Given the description of an element on the screen output the (x, y) to click on. 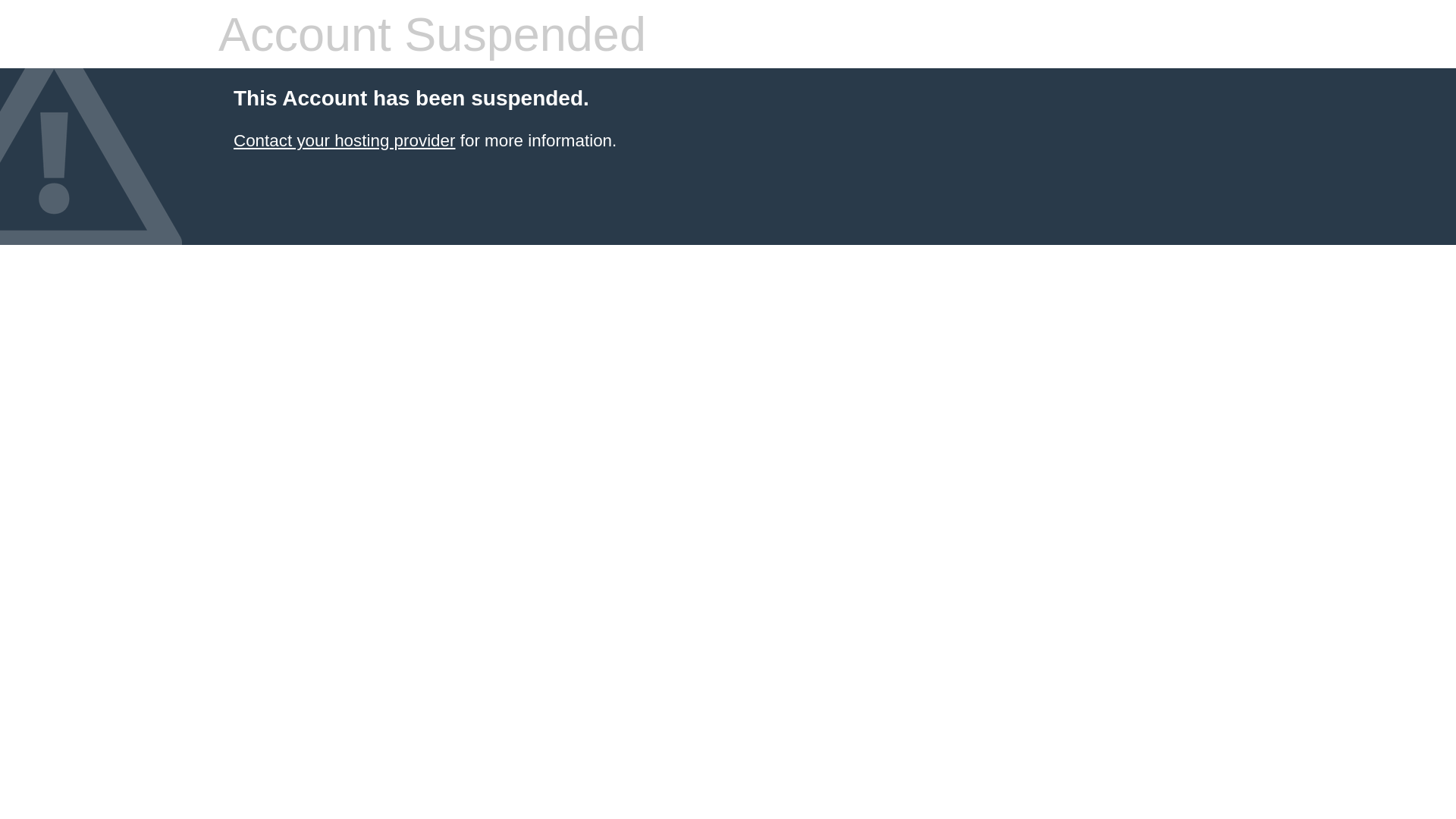
Contact your hosting provider Element type: text (344, 140)
